Given the description of an element on the screen output the (x, y) to click on. 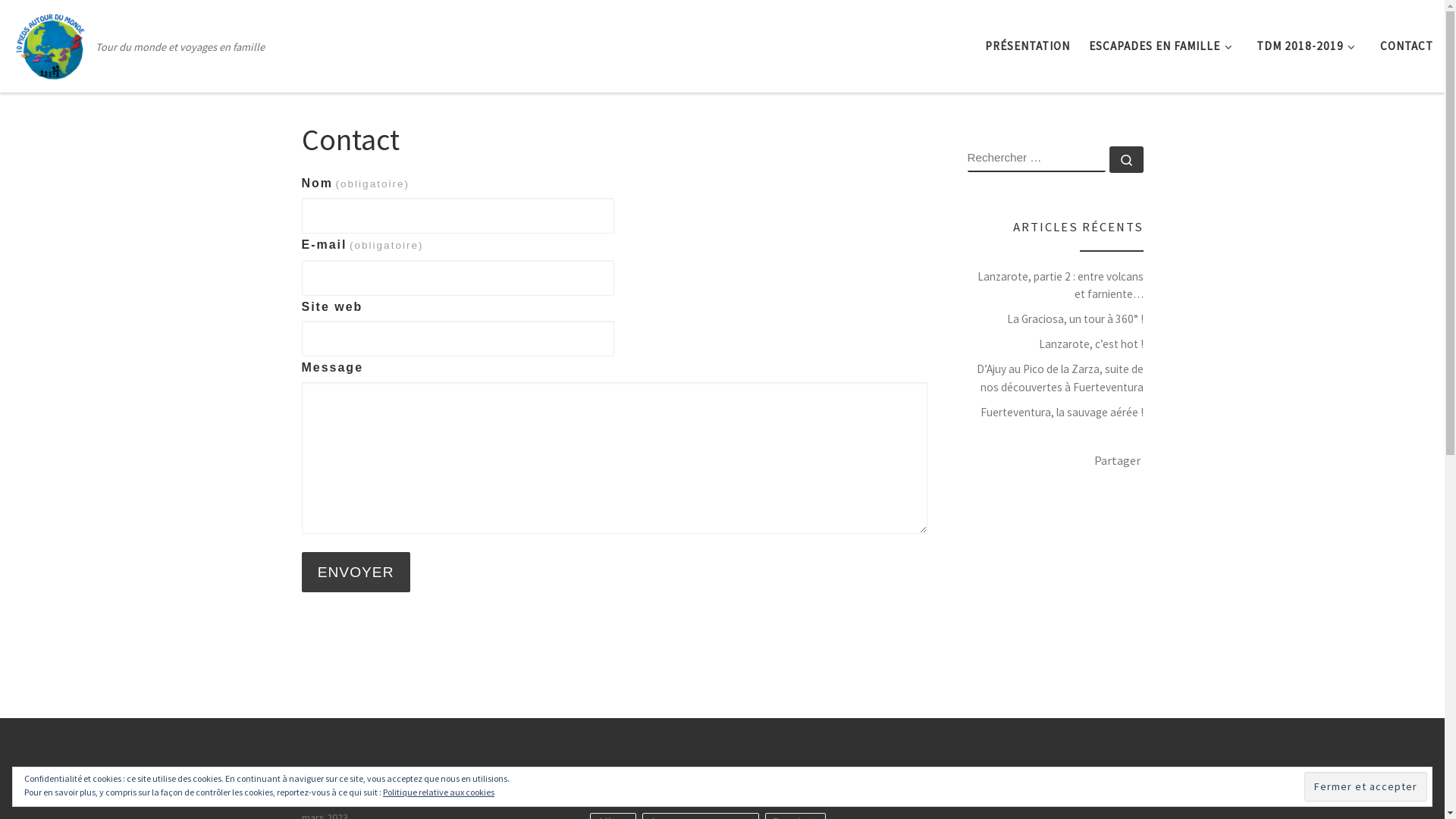
Politique relative aux cookies Element type: text (438, 791)
Passer au contenu Element type: text (67, 21)
Veuillez saisir une URL valide - https://www.exemple.fr Element type: hover (458, 338)
Partager Element type: text (1116, 460)
CONTACT Element type: text (1406, 45)
Fermer et accepter Element type: text (1365, 786)
TDM 2018-2019 Element type: text (1308, 45)
ENVOYER Element type: text (355, 572)
ESCAPADES EN FAMILLE Element type: text (1163, 45)
